Given the description of an element on the screen output the (x, y) to click on. 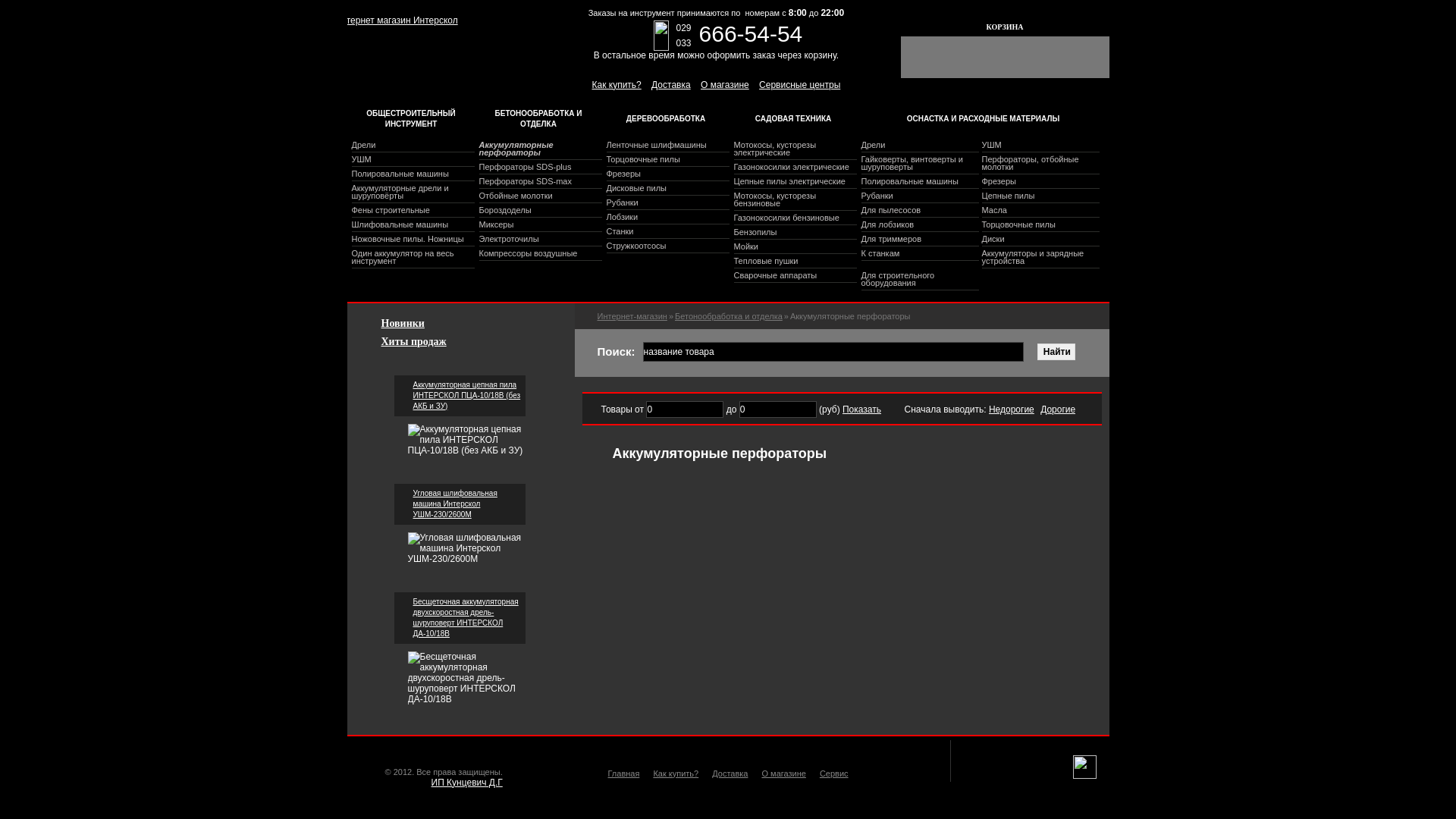
LiveInternet Element type: hover (1083, 766)
